Given the description of an element on the screen output the (x, y) to click on. 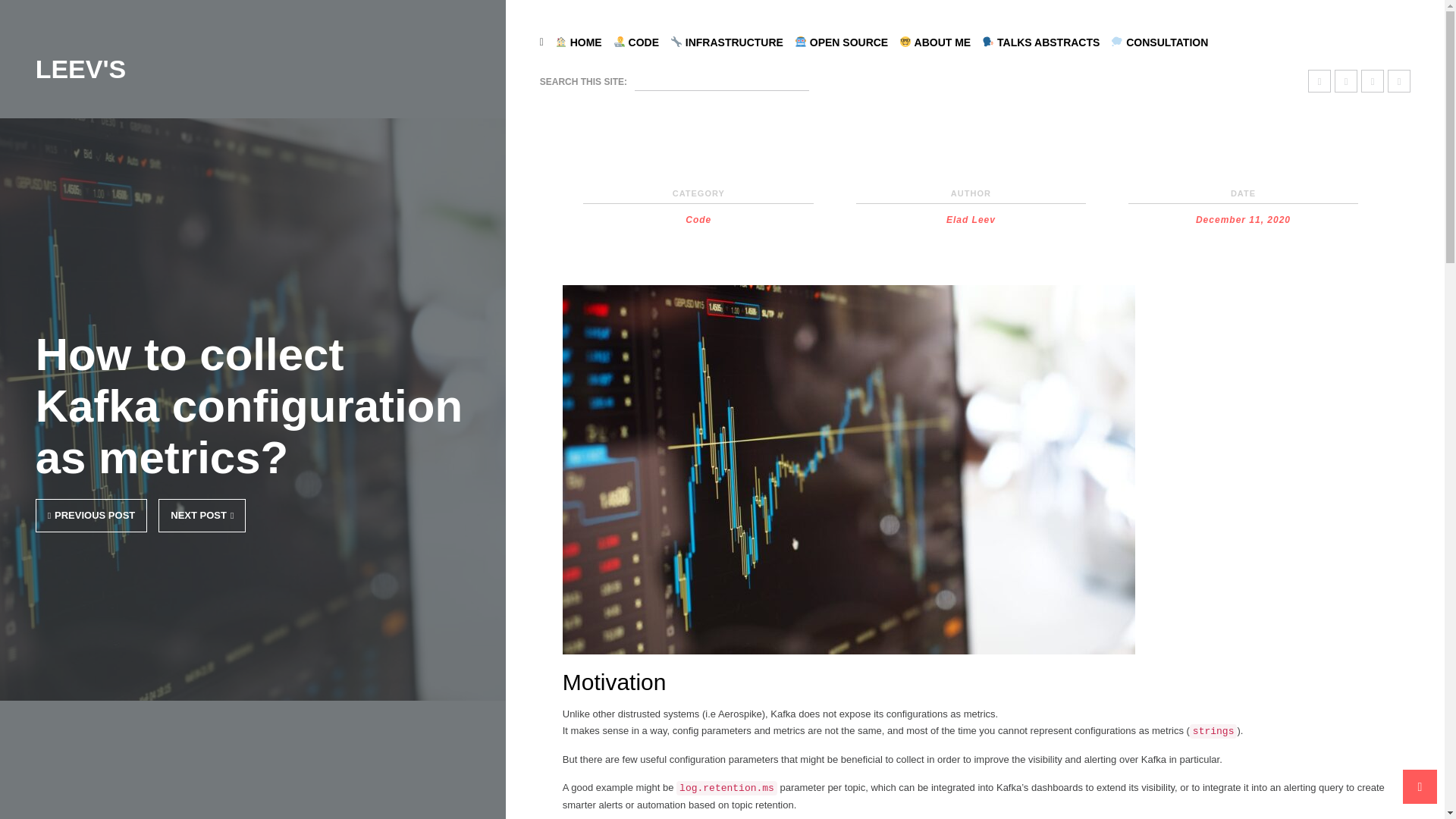
NEXT POST (201, 515)
HOME (583, 42)
CODE (640, 42)
LinkedIn (1319, 80)
ABOUT ME (940, 42)
Github (1399, 80)
TALKS ABSTRACTS (1045, 42)
Elad Leev (970, 219)
PREVIOUS POST (91, 515)
View all posts by Elad Leev (970, 219)
December 11, 2020 (1242, 219)
CONSULTATION (1165, 42)
View all posts by this date (1242, 219)
INFRASTRUCTURE (731, 42)
